Given the description of an element on the screen output the (x, y) to click on. 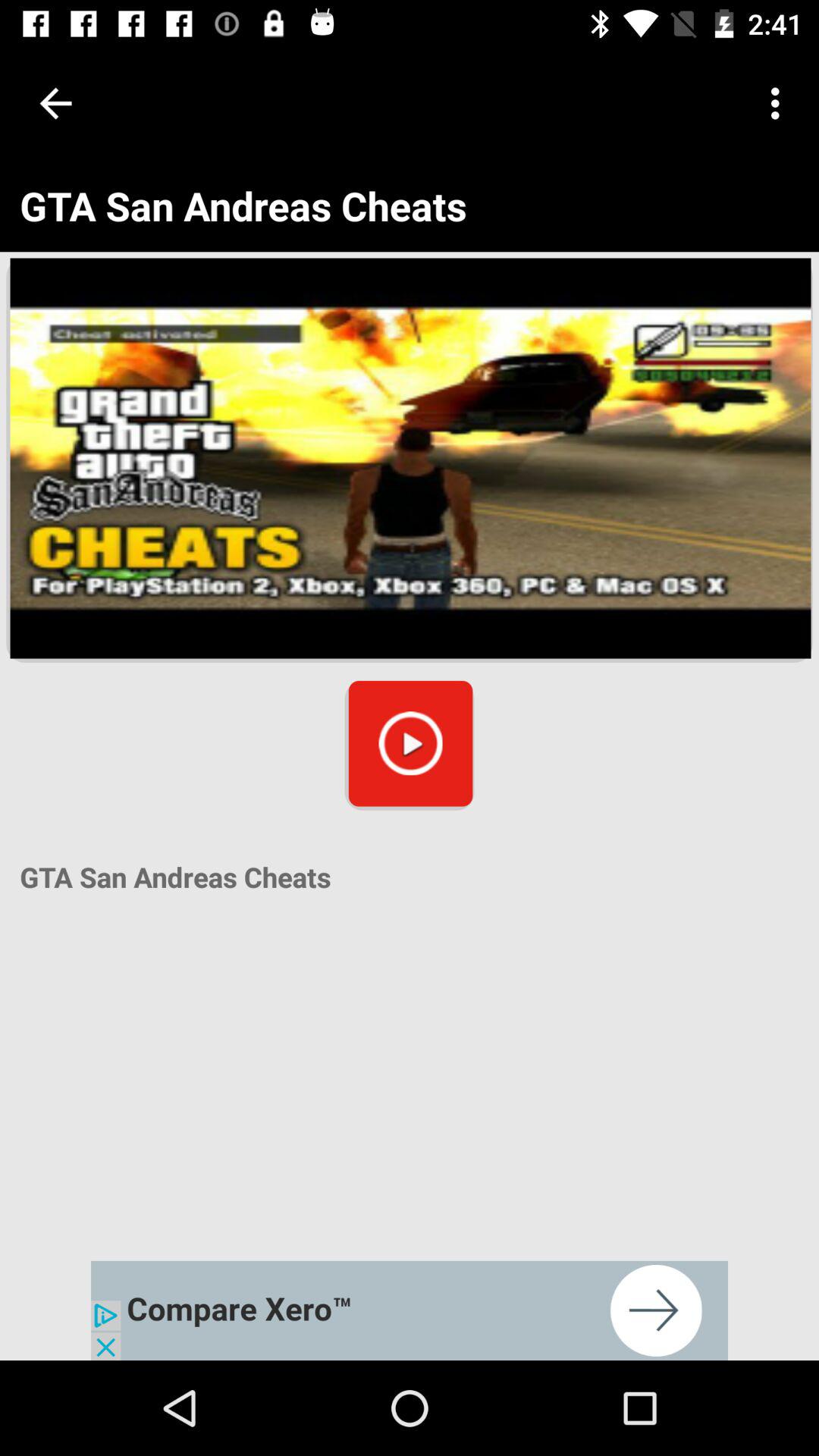
click on advertisement (409, 1310)
